Given the description of an element on the screen output the (x, y) to click on. 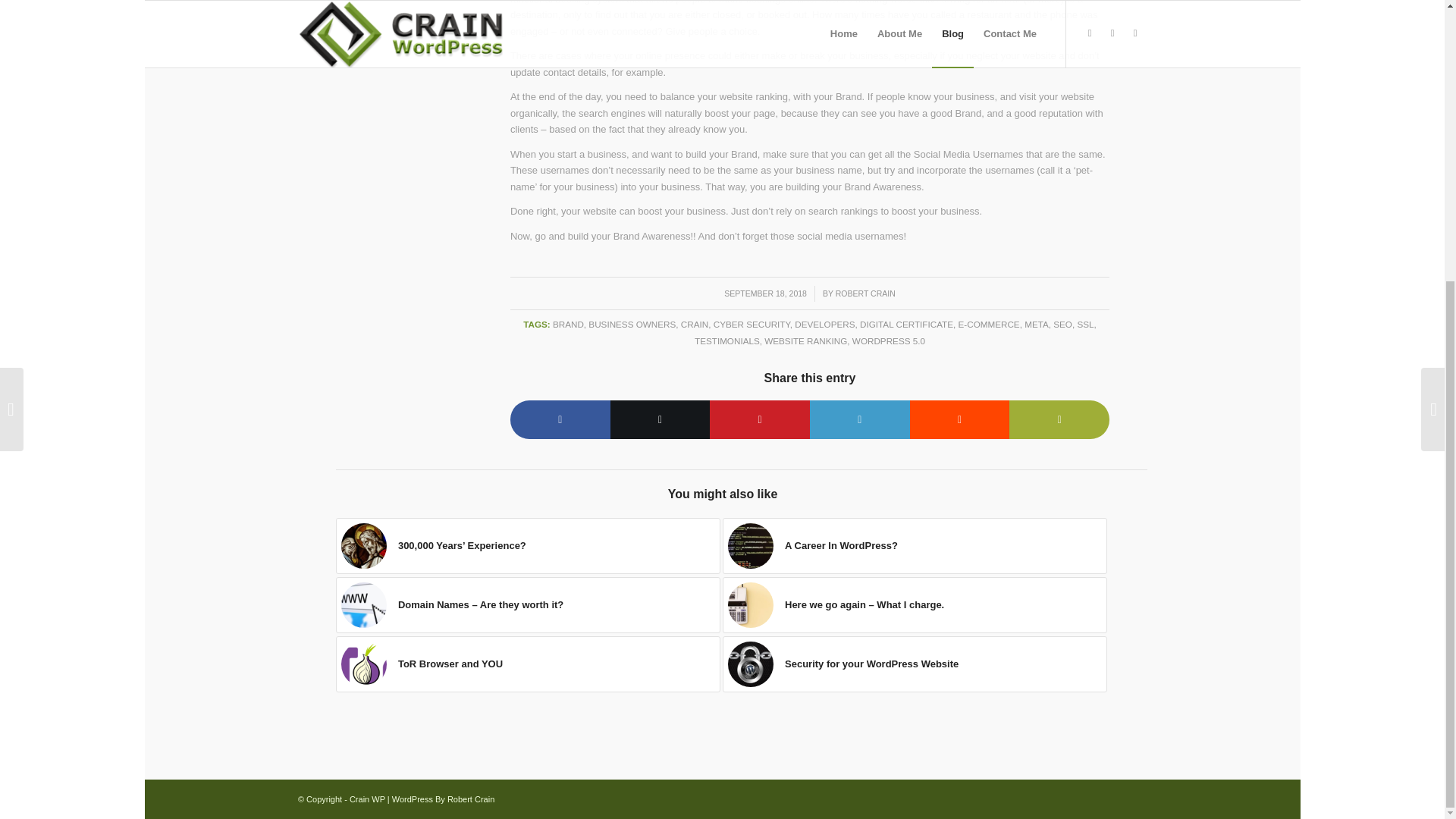
DEVELOPERS (824, 324)
ROBERT CRAIN (865, 293)
BRAND (568, 324)
CRAIN (694, 324)
WORDPRESS 5.0 (887, 340)
WEBSITE RANKING (805, 340)
CYBER SECURITY (751, 324)
Posts by Robert Crain (865, 293)
DIGITAL CERTIFICATE (906, 324)
A Career In WordPress? (914, 545)
E-COMMERCE (989, 324)
TESTIMONIALS (727, 340)
SSL (1085, 324)
SEO (1061, 324)
BUSINESS OWNERS (631, 324)
